Given the description of an element on the screen output the (x, y) to click on. 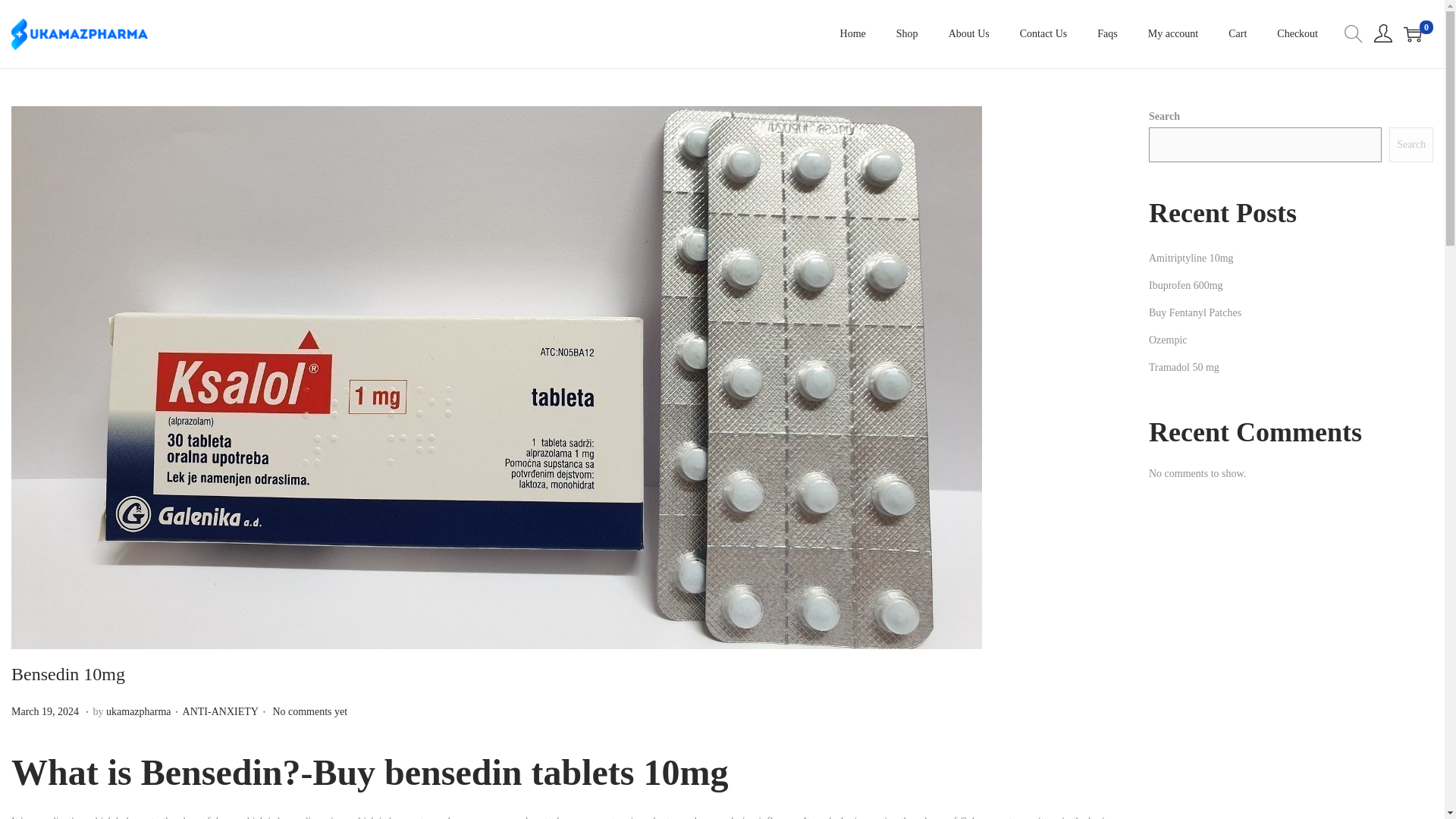
No comments yet (309, 711)
Bensedin 10mg (68, 673)
0 (1412, 34)
ANTI-ANXIETY (46, 711)
ukamazpharma (221, 711)
